Given the description of an element on the screen output the (x, y) to click on. 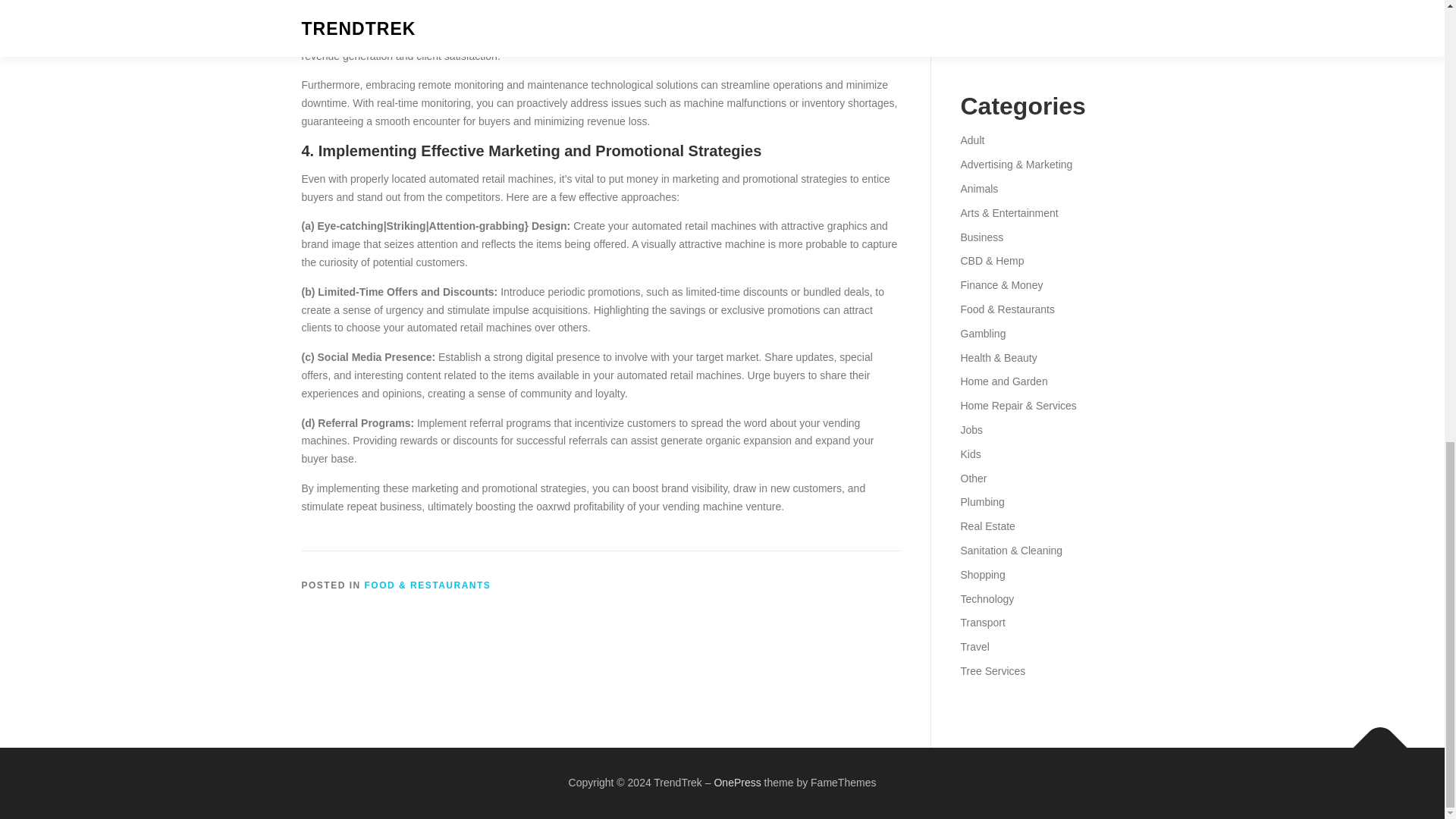
May 2023 (982, 21)
Animals (978, 188)
April 2023 (983, 45)
June 2023 (984, 2)
Business (981, 236)
Adult (971, 140)
Back To Top (1372, 739)
